Given the description of an element on the screen output the (x, y) to click on. 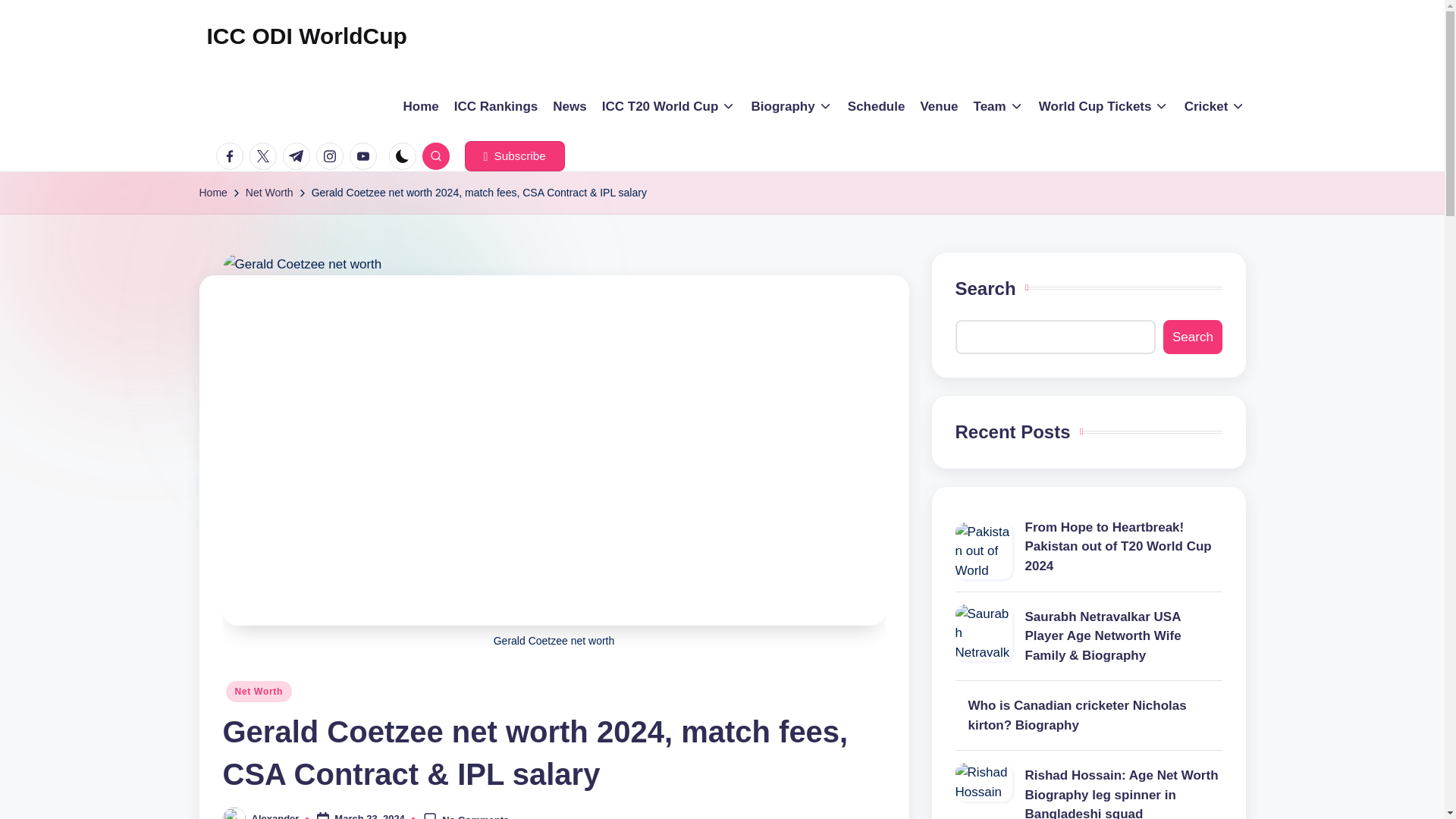
Team (998, 106)
ICC Rankings (496, 106)
View all posts by Alexander (275, 816)
Venue (939, 106)
Schedule (876, 106)
Home (421, 106)
Biography (791, 106)
ICC ODI WorldCup (306, 36)
ICC T20 World Cup (669, 106)
News (569, 106)
World Cup Tickets (1104, 106)
